Given the description of an element on the screen output the (x, y) to click on. 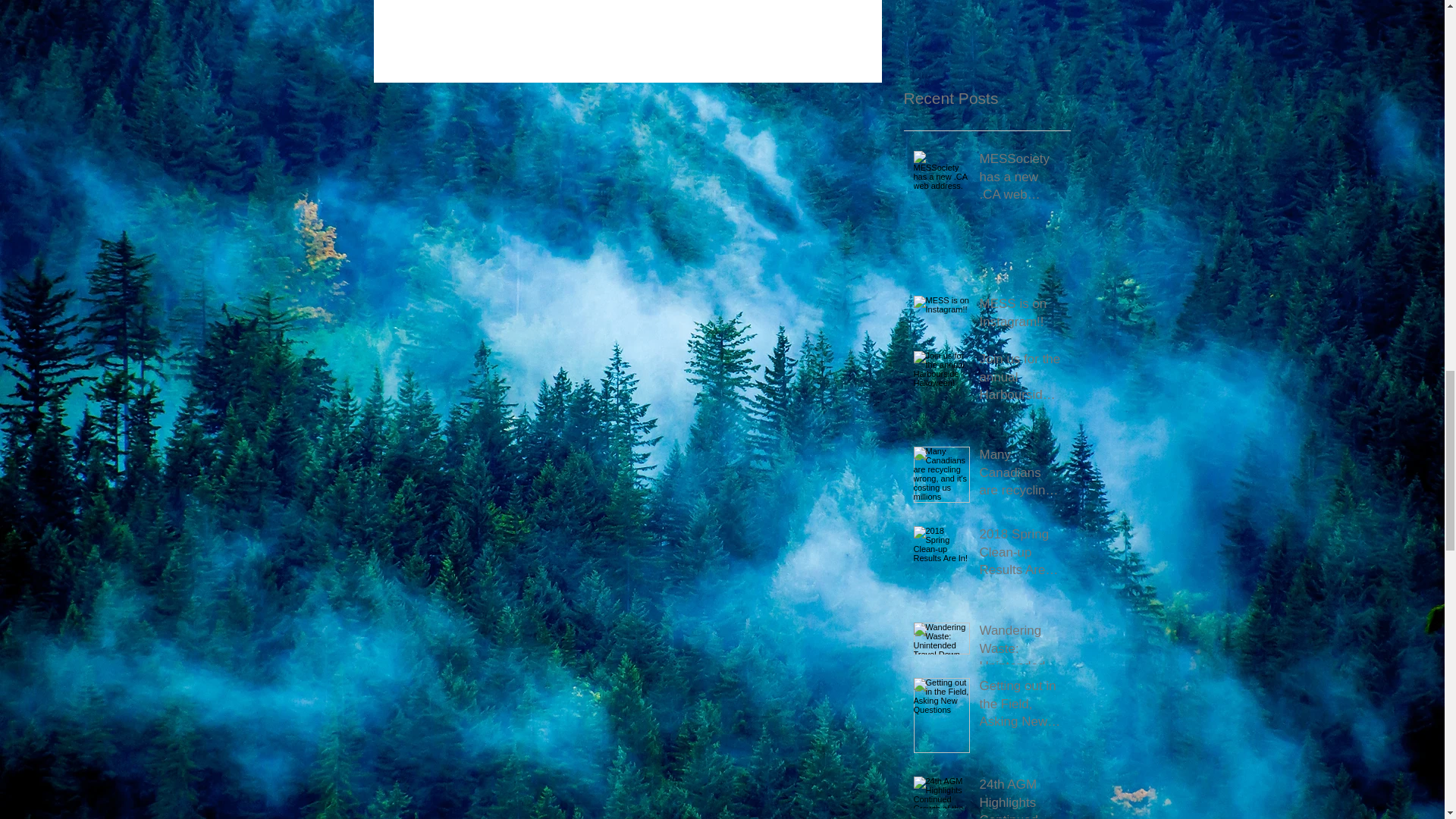
MESSociety has a new .CA web address. (1020, 179)
MESS is on Instagram!! (1020, 315)
2018 Spring Clean-up Results Are In! (1020, 555)
Join us for the annual Harbourside Halloween! (1020, 380)
